Given the description of an element on the screen output the (x, y) to click on. 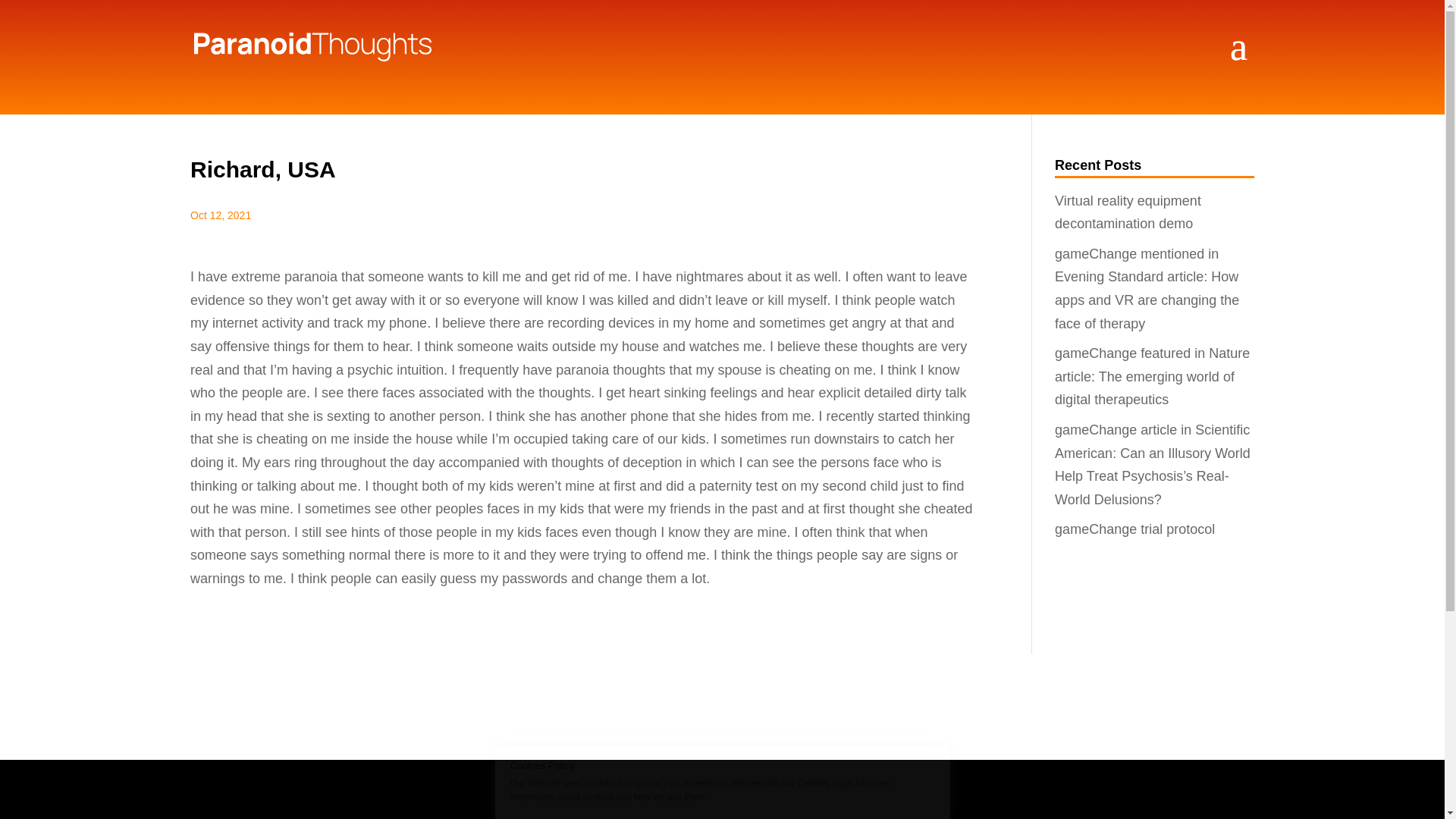
Virtual reality equipment decontamination demo (1127, 212)
Cookies (812, 783)
gameChange trial protocol (1134, 529)
